Given the description of an element on the screen output the (x, y) to click on. 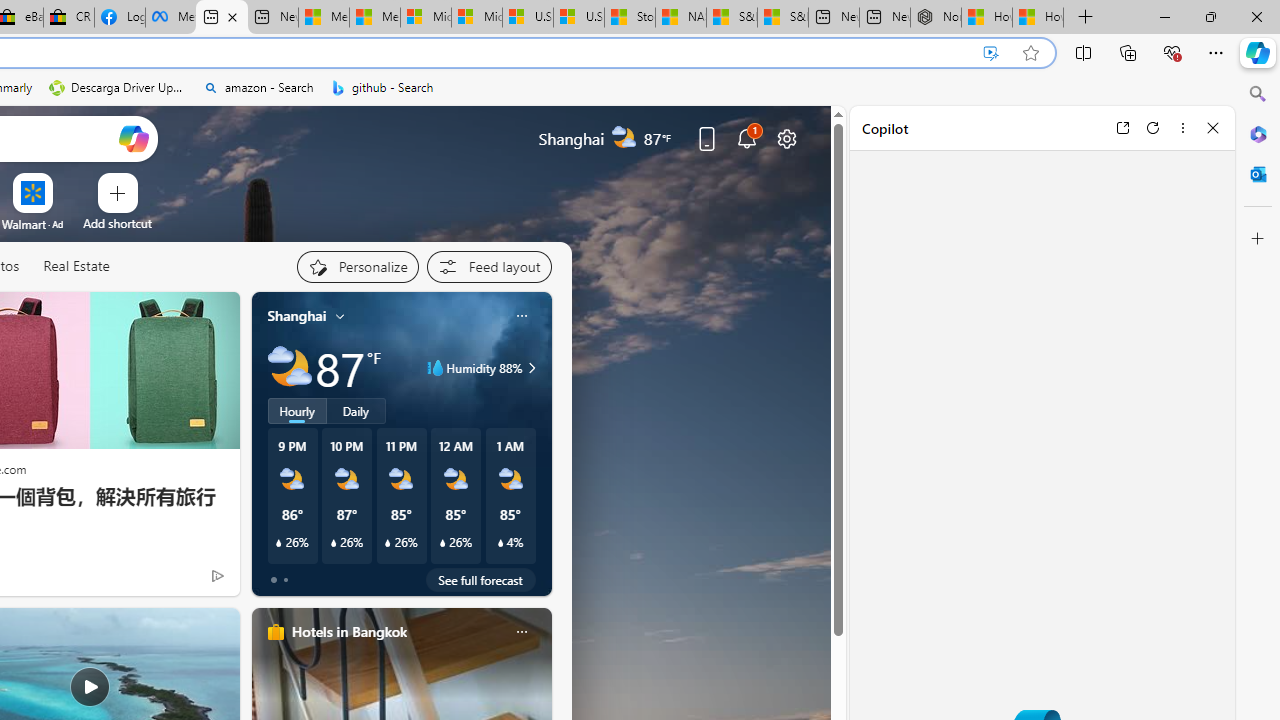
Class: weather-current-precipitation-glyph (500, 543)
Hotels in Bangkok (348, 631)
Personalize your feed" (356, 266)
Humidity 88% (529, 367)
See full forecast (480, 579)
tab-0 (273, 579)
Feed settings (488, 266)
